Given the description of an element on the screen output the (x, y) to click on. 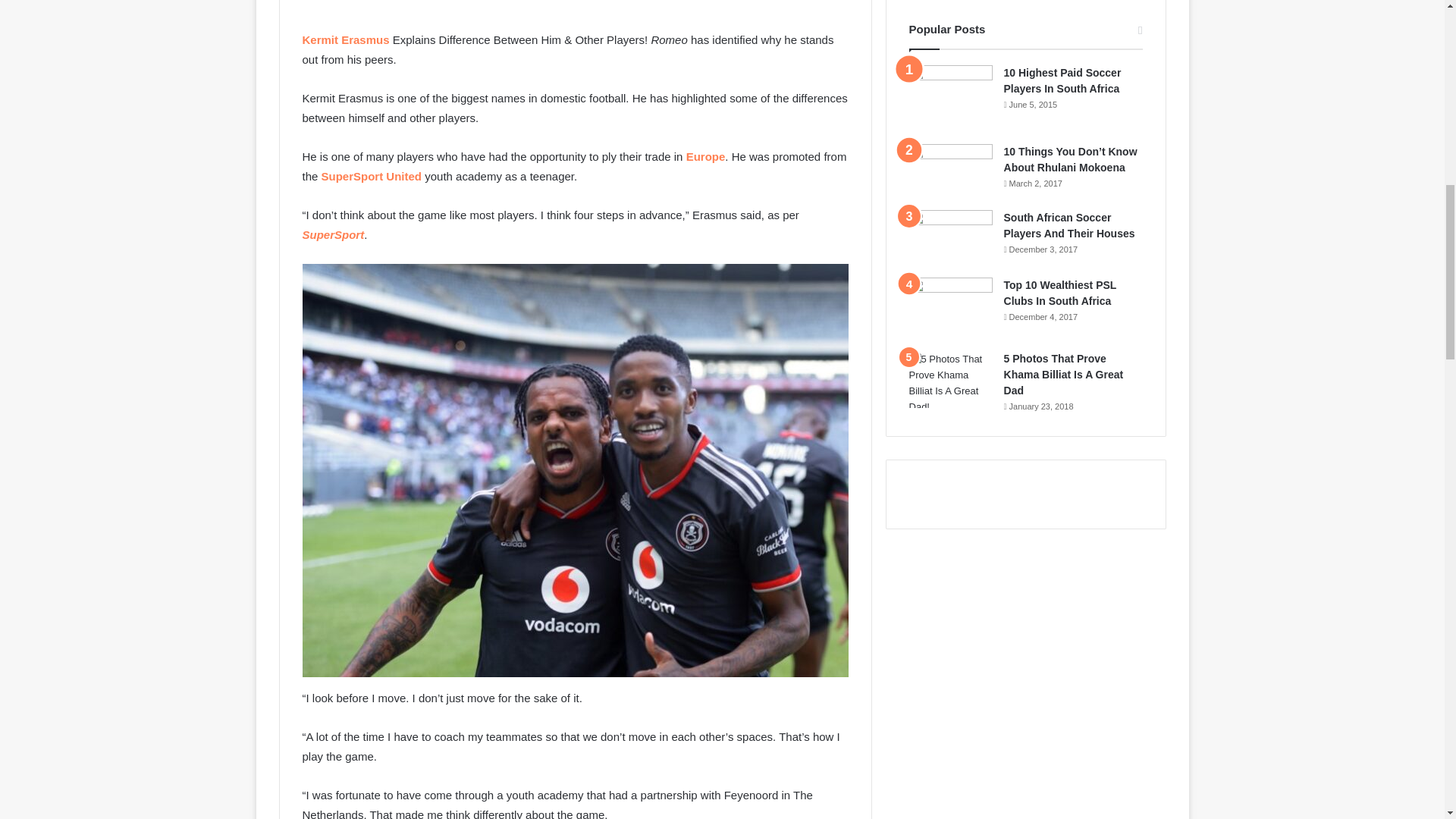
Kermit Erasmus (344, 39)
Europe (705, 155)
SuperSport (332, 234)
SuperSport United (371, 175)
